Given the description of an element on the screen output the (x, y) to click on. 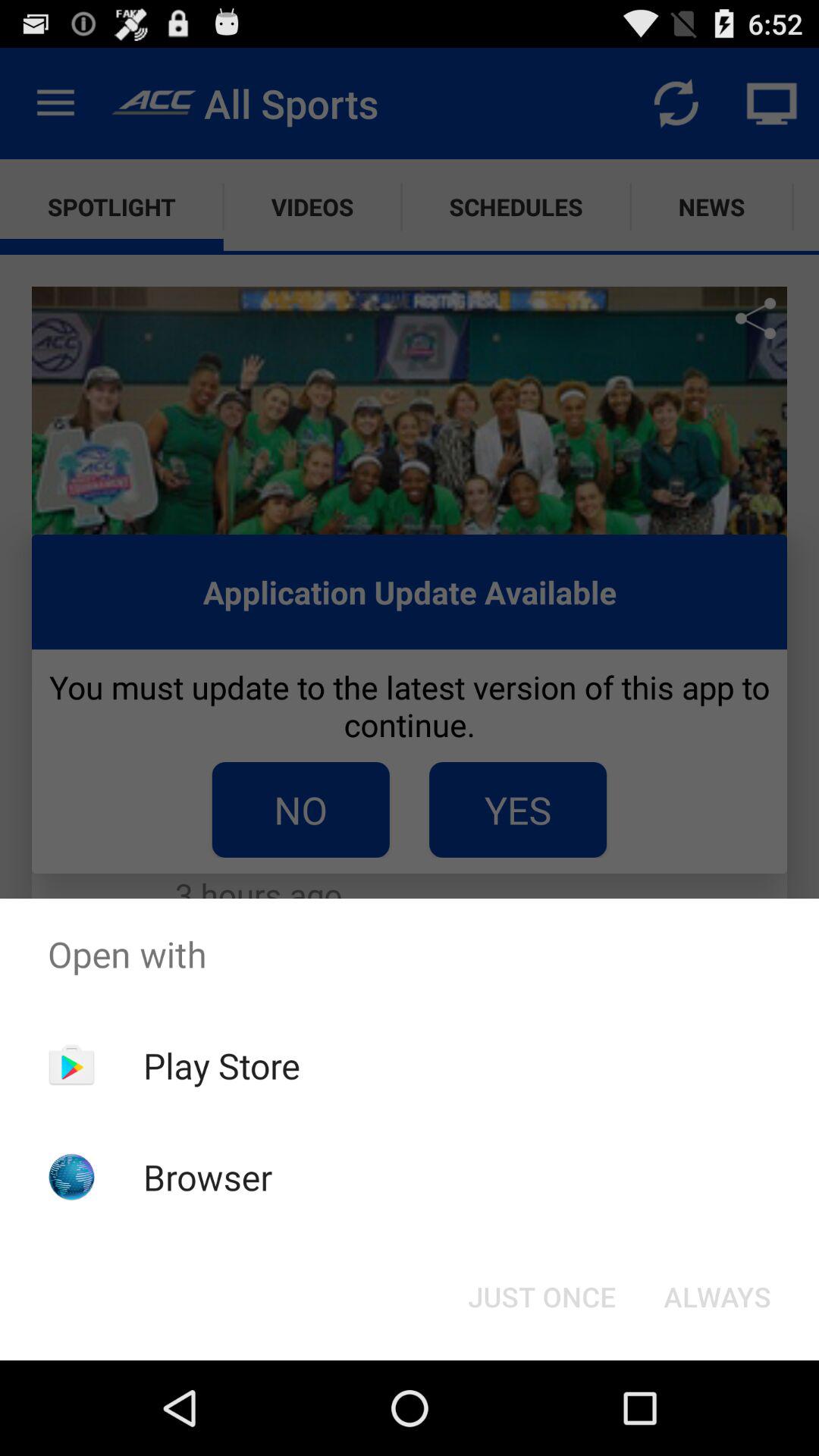
select the item to the right of just once button (717, 1296)
